Given the description of an element on the screen output the (x, y) to click on. 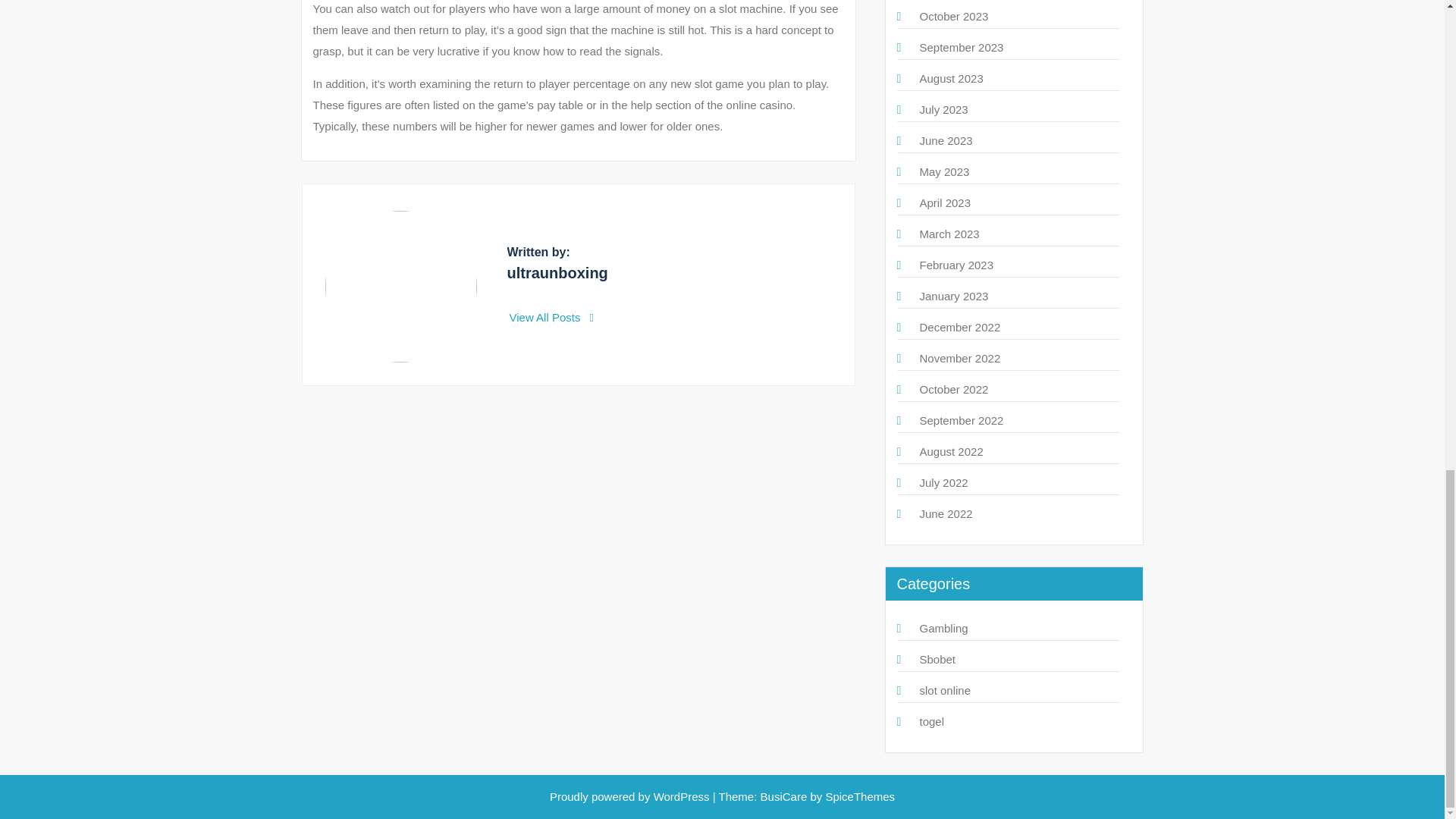
September 2022 (960, 420)
November 2022 (959, 358)
February 2023 (955, 264)
October 2023 (953, 15)
June 2022 (945, 513)
July 2023 (943, 109)
May 2023 (943, 171)
January 2023 (953, 295)
July 2022 (943, 481)
December 2022 (959, 327)
